Given the description of an element on the screen output the (x, y) to click on. 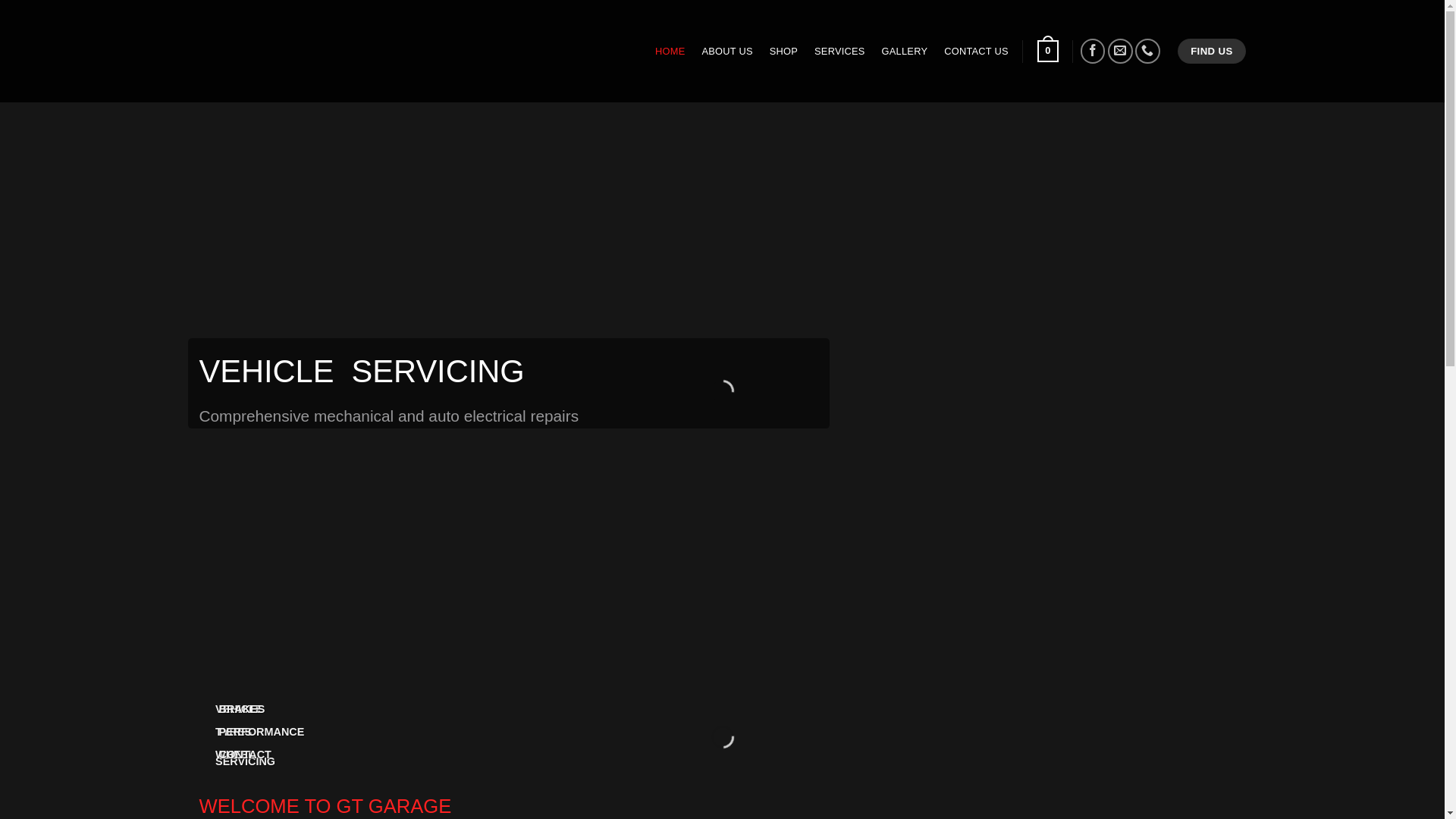
SERVICES Element type: text (839, 51)
Call us Element type: hover (1147, 50)
Follow on Facebook Element type: hover (1092, 50)
CONTACT US Element type: text (976, 51)
ABOUT US Element type: text (727, 51)
SHOP Element type: text (783, 51)
Send us an email Element type: hover (1119, 50)
FIND US Element type: text (1211, 51)
Skip to content Element type: text (0, 0)
GT GARAGE Element type: hover (320, 50)
HOME Element type: text (669, 51)
GALLERY Element type: text (904, 51)
0 Element type: text (1047, 51)
